Given the description of an element on the screen output the (x, y) to click on. 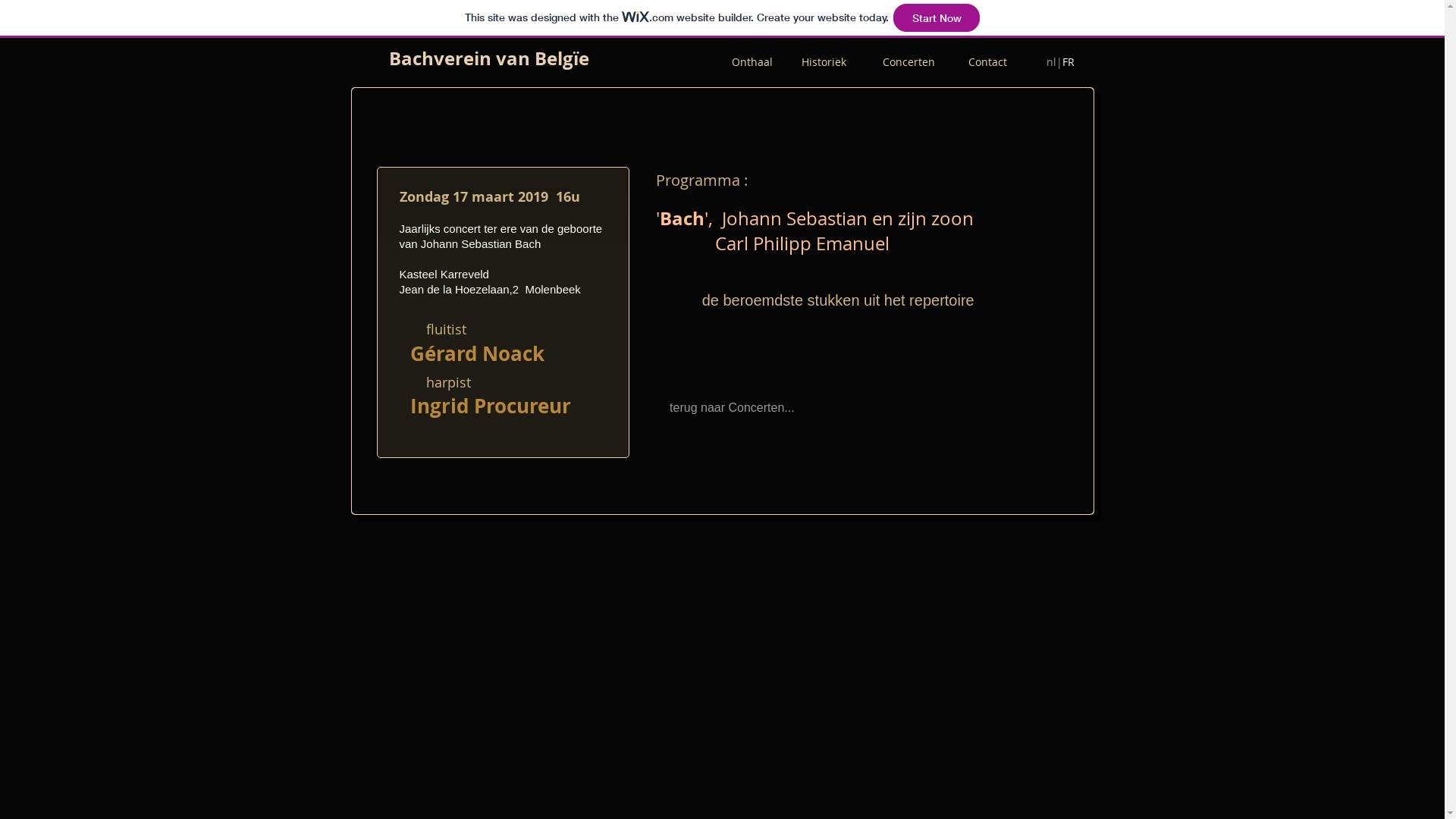
 Onthaal Element type: text (749, 61)
Concerten            Element type: text (925, 61)
FR Element type: text (1068, 61)
   terug naar Concerten... Element type: text (726, 407)
Historiek             Element type: text (841, 61)
Contact Element type: text (987, 61)
